Given the description of an element on the screen output the (x, y) to click on. 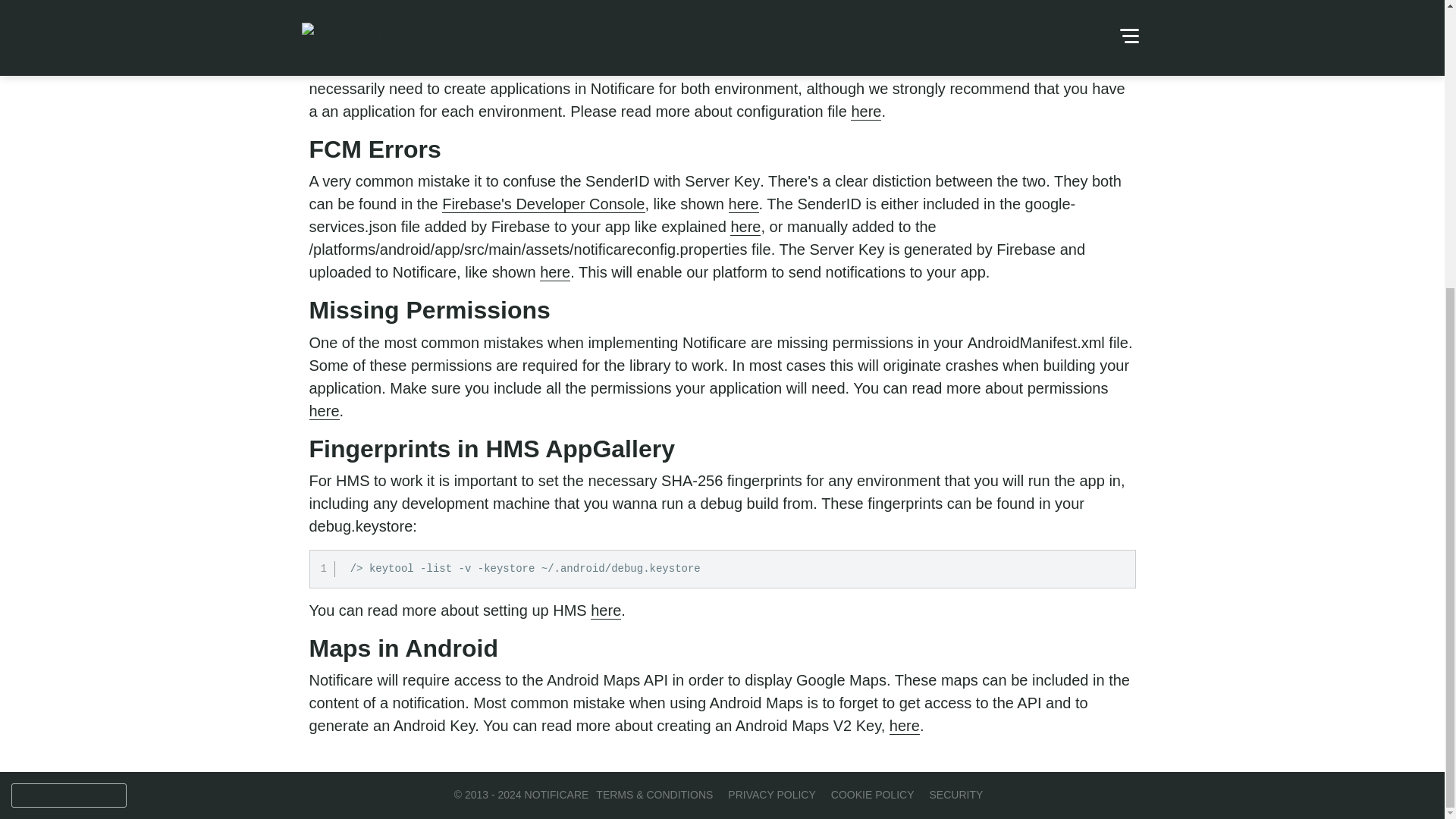
Firebase's Developer Console (543, 203)
here (865, 111)
PRIVACY POLICY (771, 795)
here (555, 272)
here (323, 411)
COOKIE SETTINGS (68, 359)
here (745, 226)
here (743, 203)
SECURITY (955, 795)
COOKIE POLICY (872, 795)
